Given the description of an element on the screen output the (x, y) to click on. 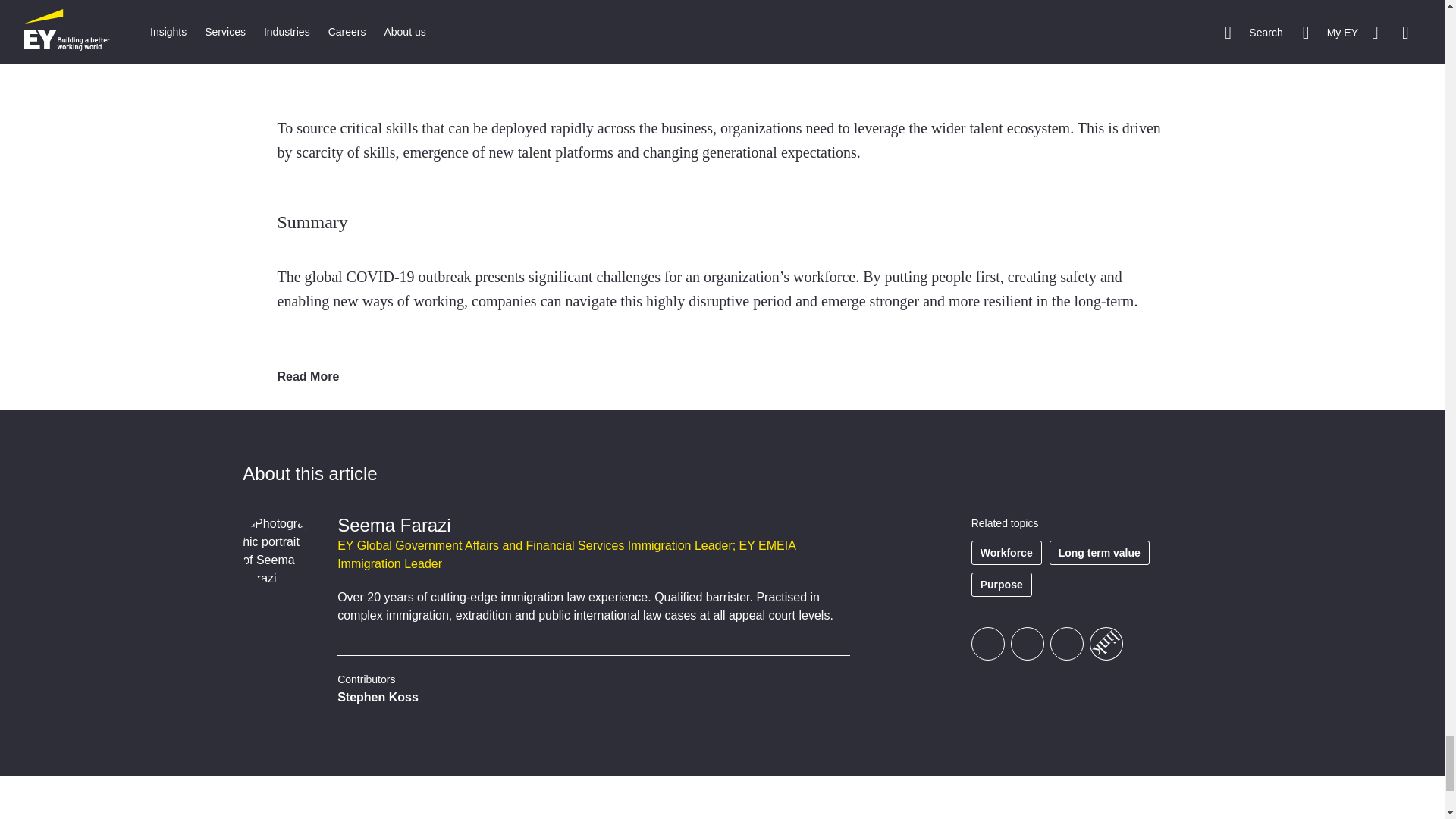
LinkedIn (1066, 643)
Copy (1099, 636)
Facebook (987, 643)
Twitter (1026, 643)
